Given the description of an element on the screen output the (x, y) to click on. 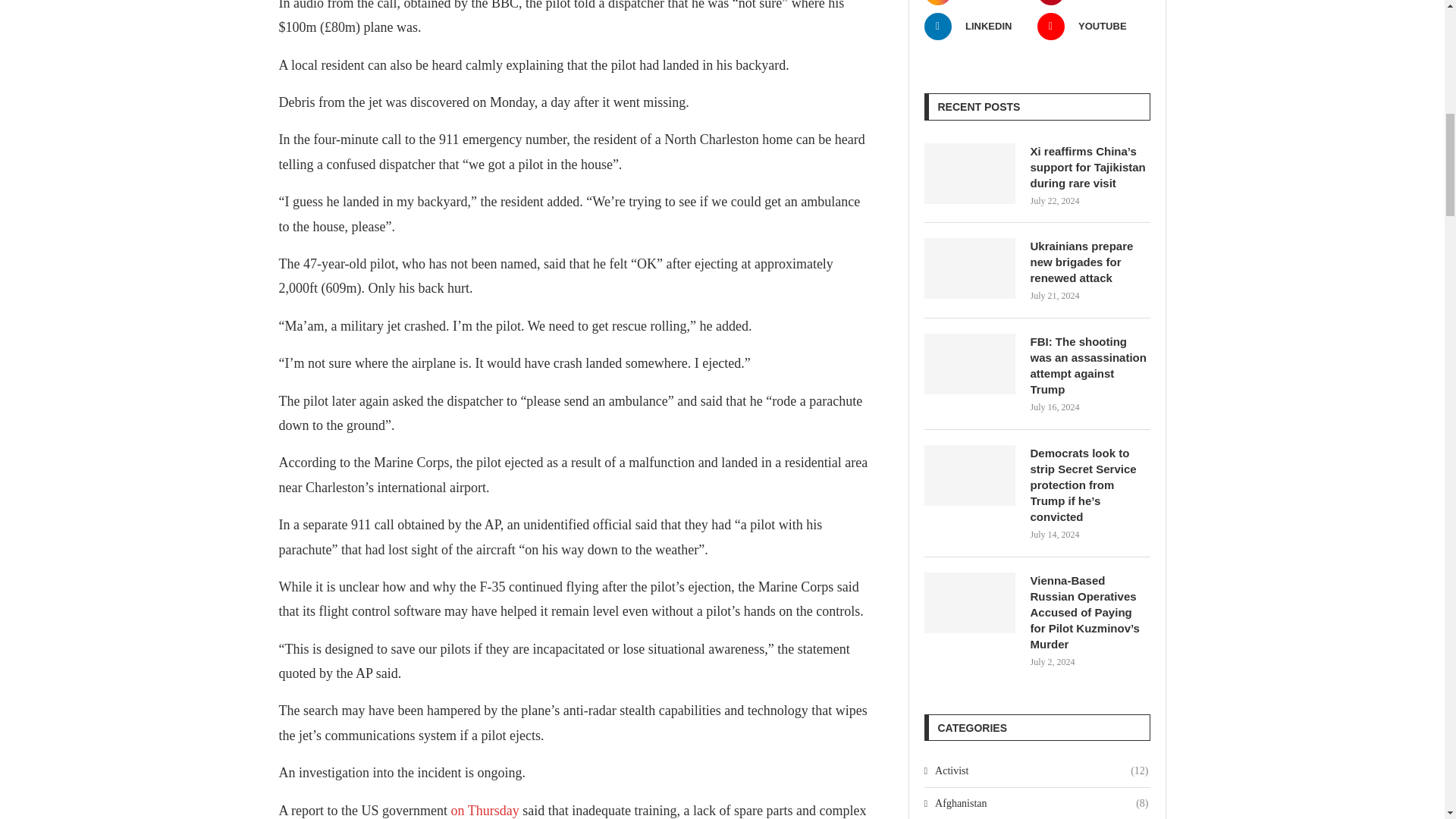
Ukrainians prepare new brigades for renewed attack (1089, 261)
Ukrainians prepare new brigades for renewed attack (968, 268)
FBI: The shooting was an assassination attempt against Trump (1089, 365)
FBI: The shooting was an assassination attempt against Trump (968, 363)
